Given the description of an element on the screen output the (x, y) to click on. 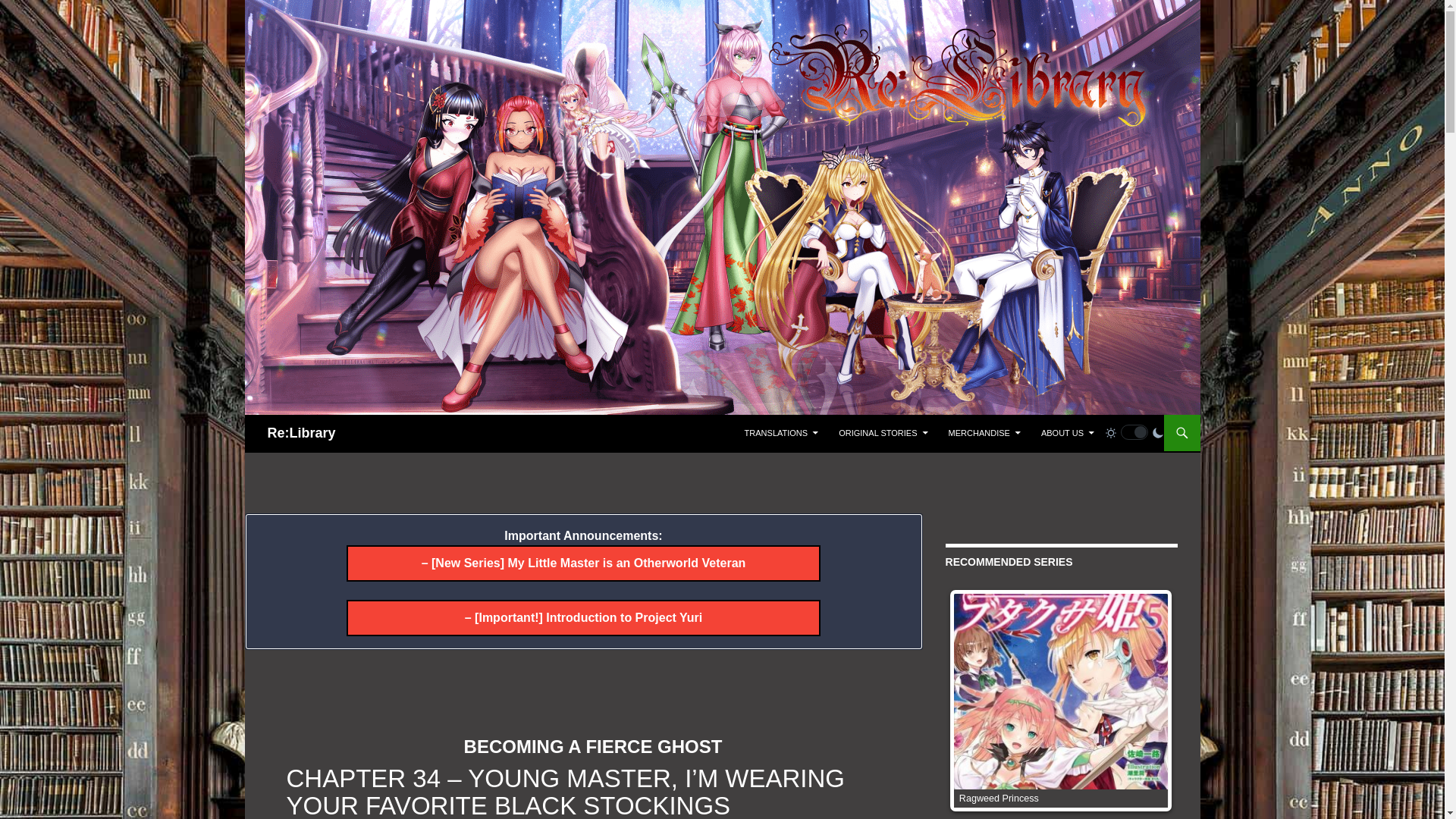
MERCHANDISE (984, 432)
Re:Library (300, 432)
ABOUT US (1067, 432)
ORIGINAL STORIES (882, 432)
TRANSLATIONS (781, 432)
